Given the description of an element on the screen output the (x, y) to click on. 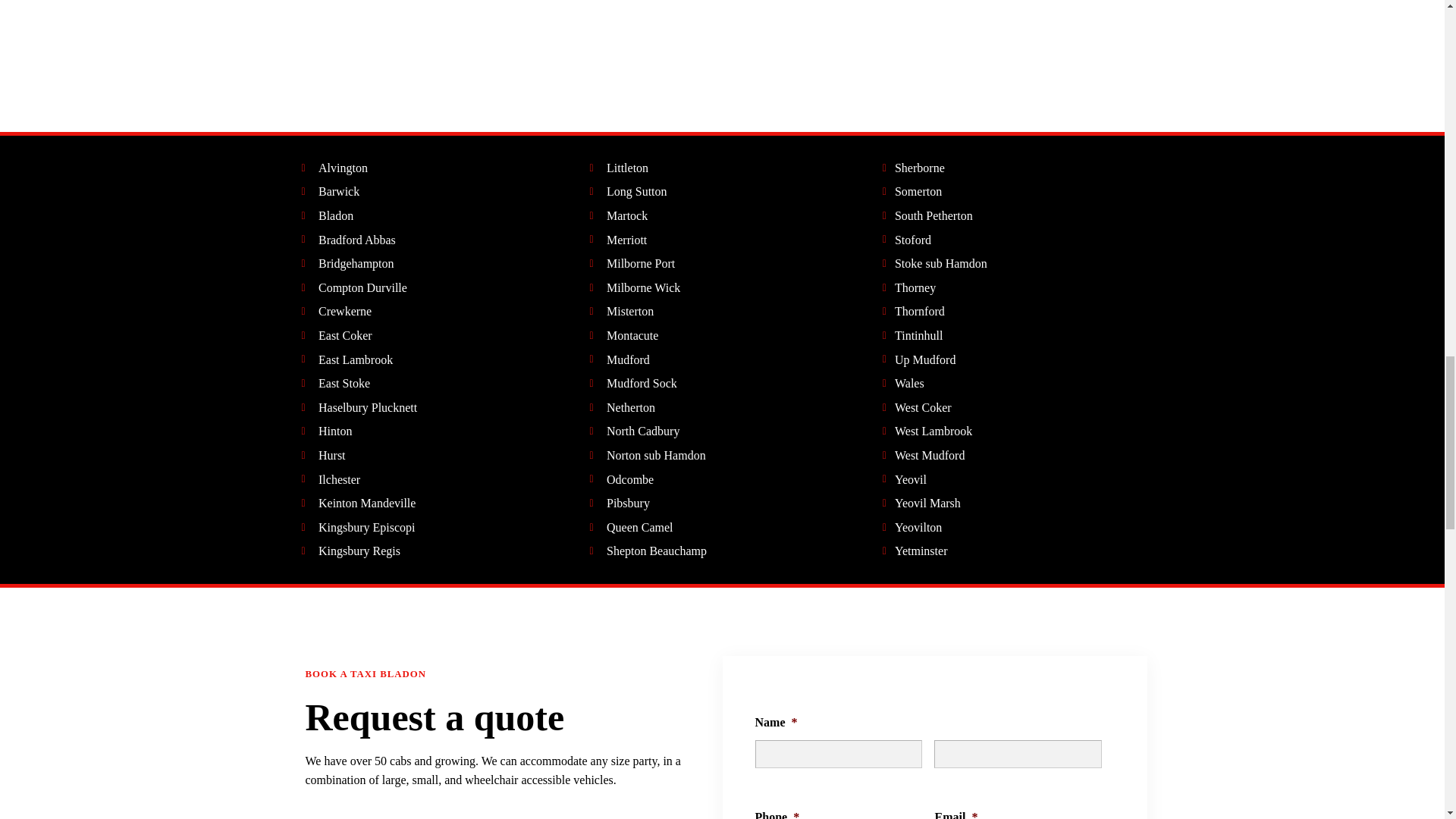
Barwick (330, 191)
Bladon (327, 216)
Alvington (334, 168)
Bridgehampton (347, 263)
Bradford Abbas (348, 240)
